Given the description of an element on the screen output the (x, y) to click on. 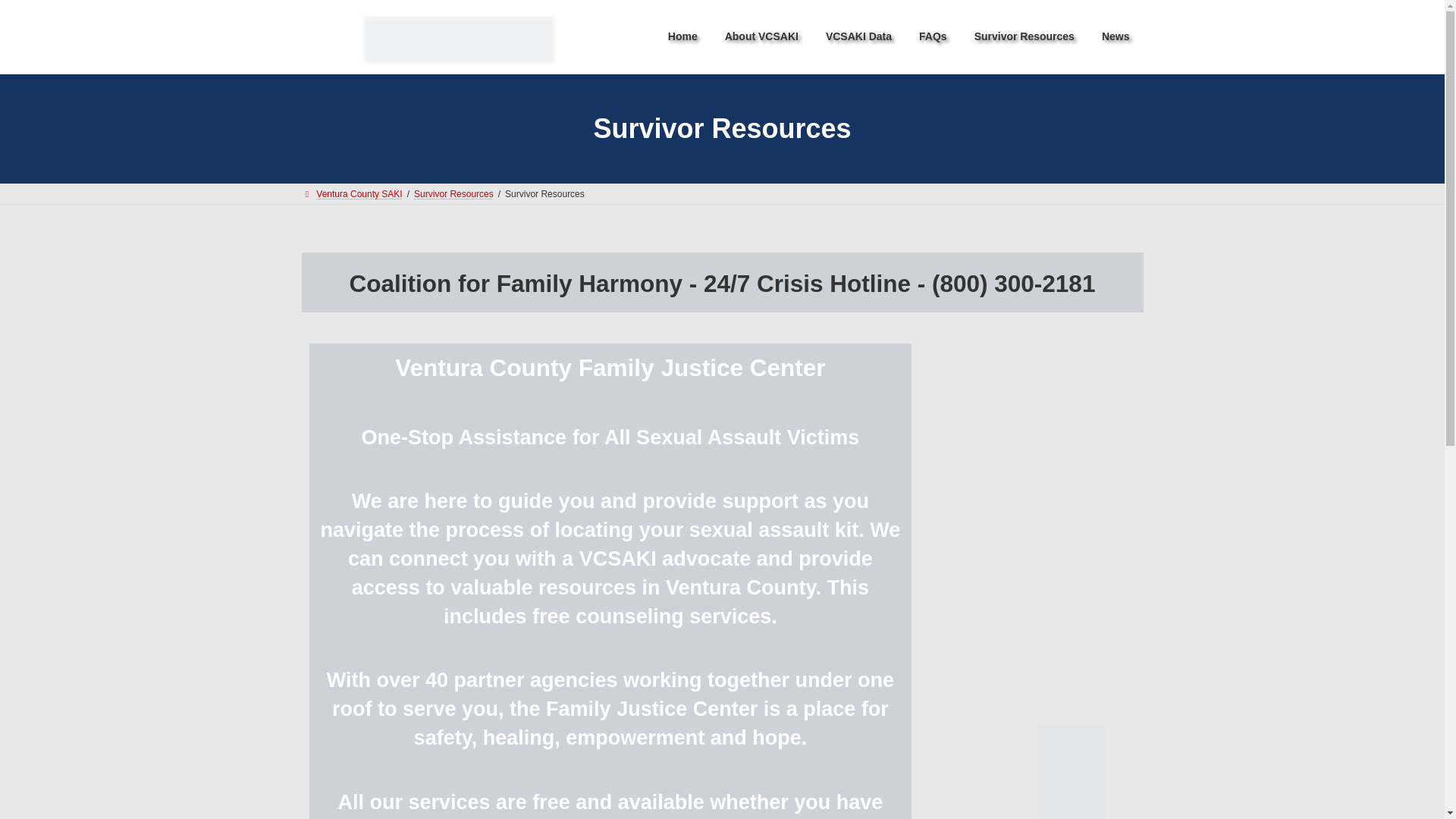
VCSAKI Data (858, 36)
Survivor Resources (453, 194)
News (1114, 36)
Home (682, 36)
Ventura County SAKI (352, 194)
About VCSAKI (761, 36)
Survivor Resources (1023, 36)
FAQs (932, 36)
